Given the description of an element on the screen output the (x, y) to click on. 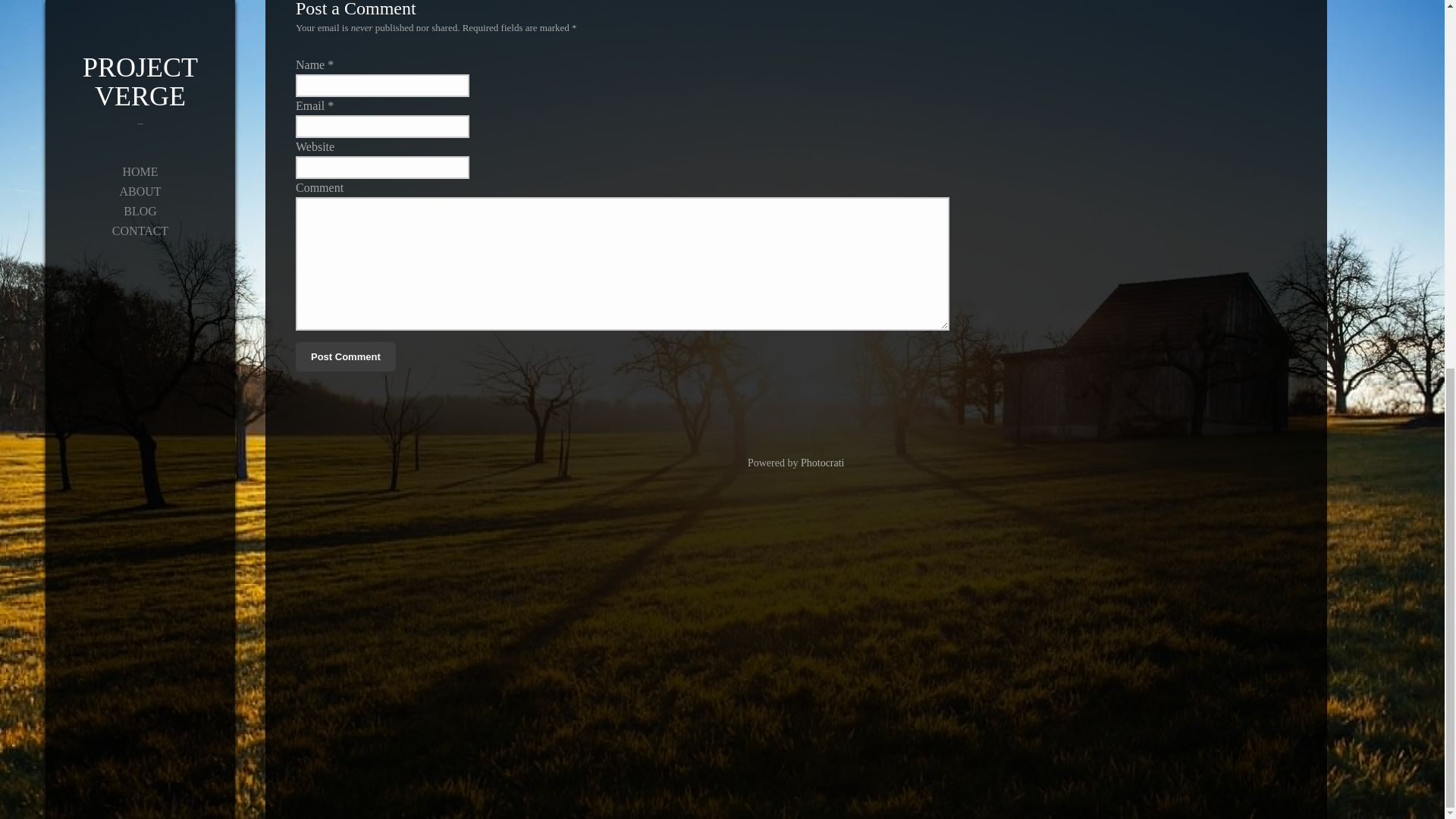
Photocrati (822, 462)
Post Comment (345, 357)
Post Comment (345, 357)
Photocrati Wordpress Themes (822, 462)
